Given the description of an element on the screen output the (x, y) to click on. 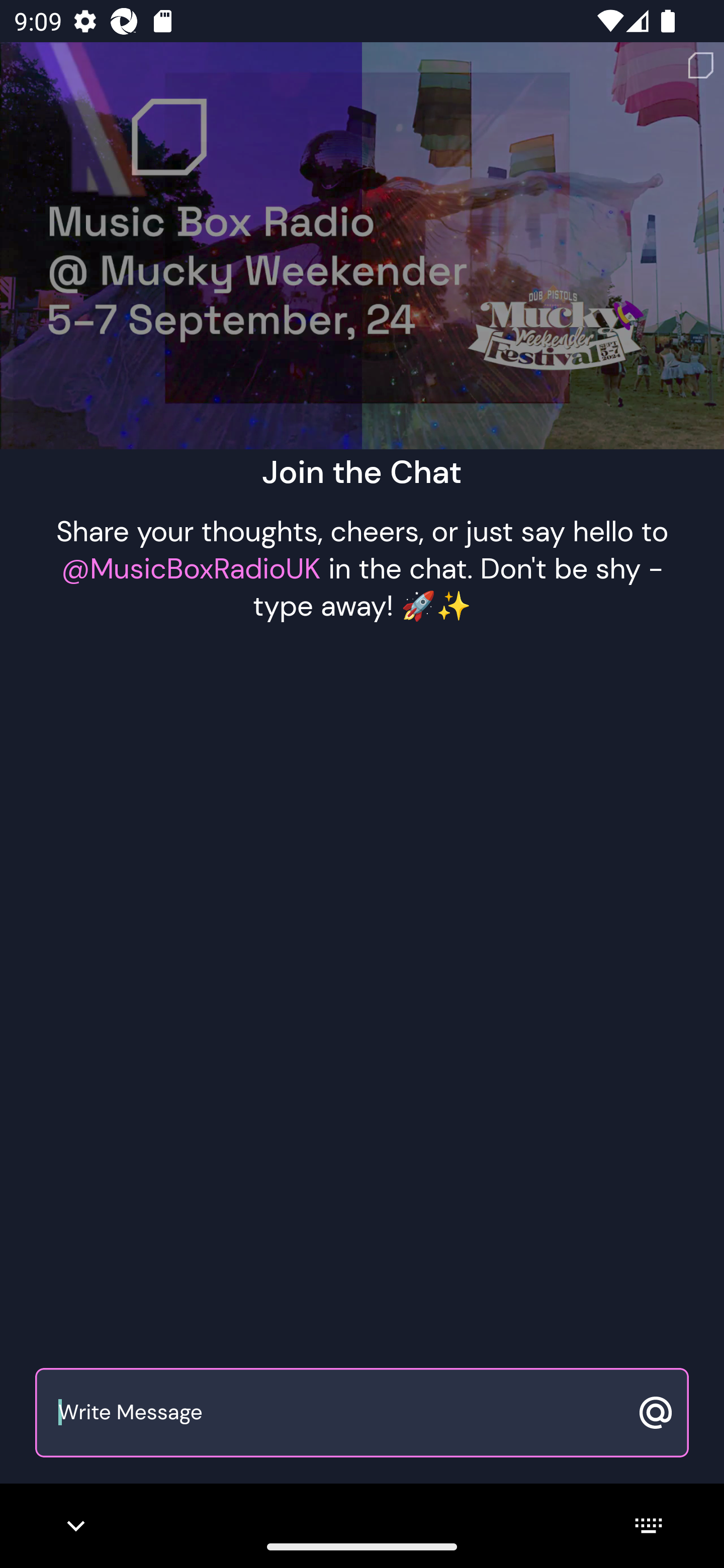
Write Message (340, 1413)
